Given the description of an element on the screen output the (x, y) to click on. 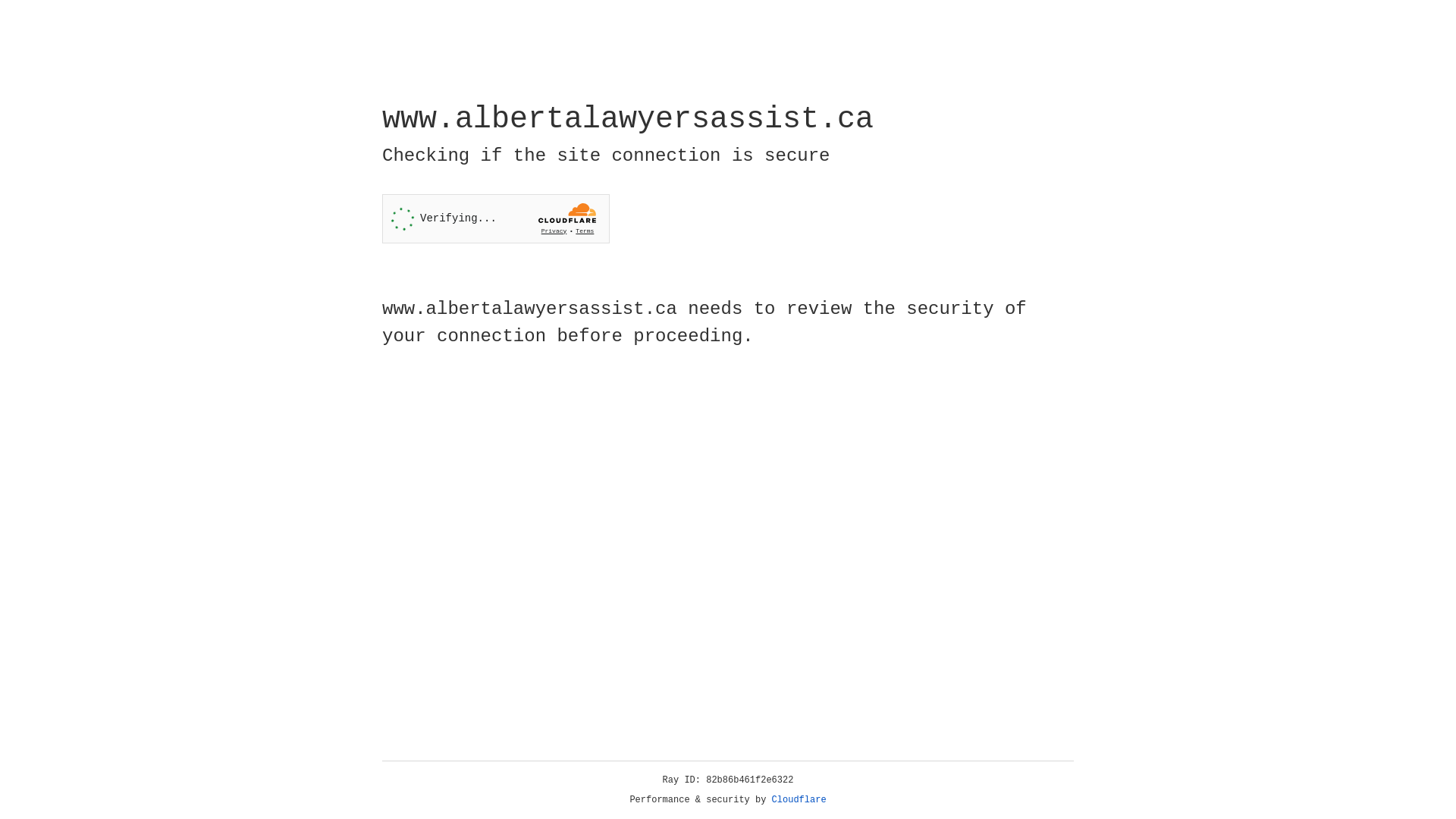
Widget containing a Cloudflare security challenge Element type: hover (495, 218)
Cloudflare Element type: text (798, 799)
